Given the description of an element on the screen output the (x, y) to click on. 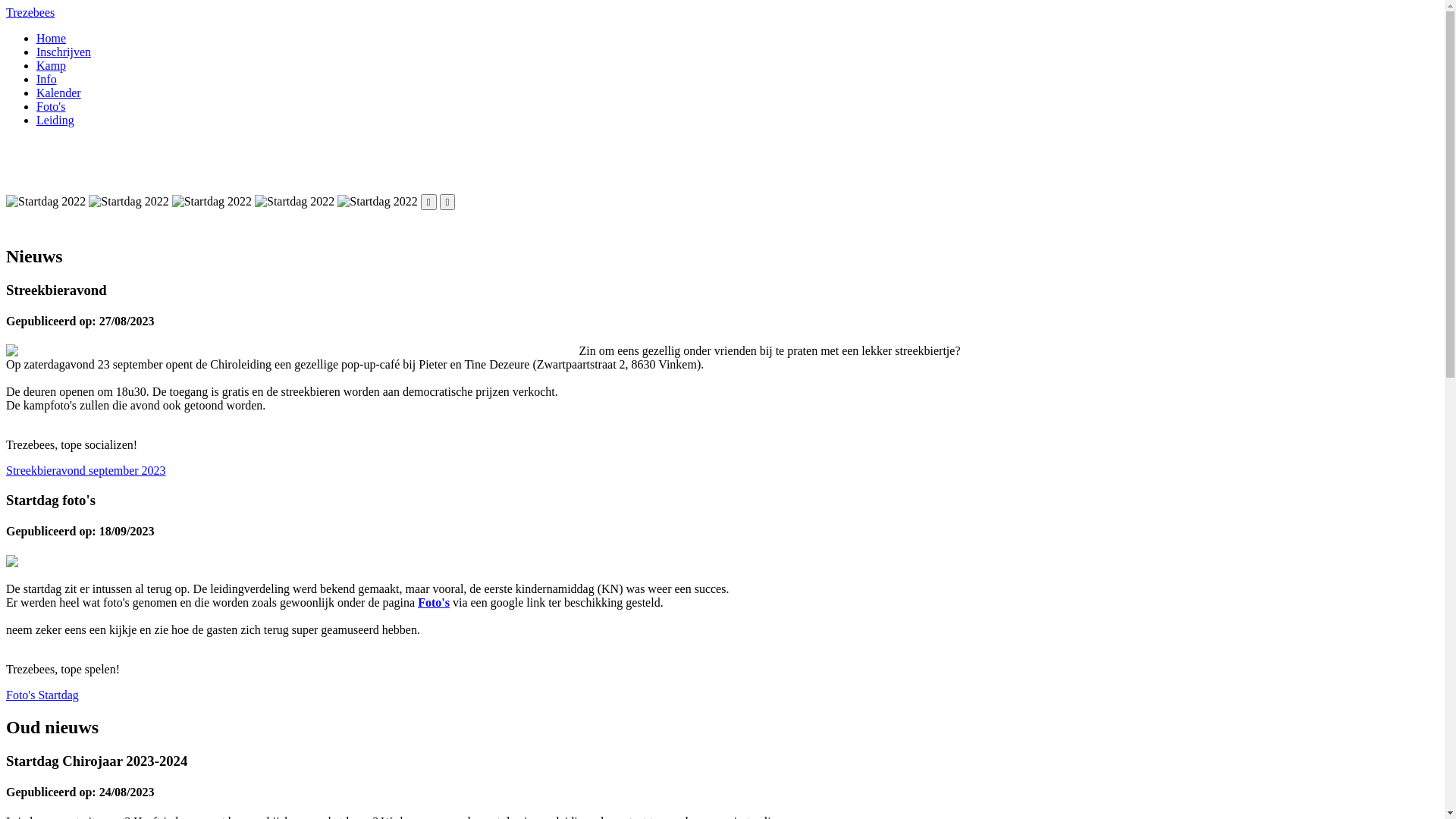
Foto's Element type: text (50, 106)
Foto's Element type: text (433, 602)
Foto's Startdag Element type: text (42, 694)
Trezebees Element type: text (30, 12)
Home Element type: text (50, 37)
Inschrijven Element type: text (63, 51)
Leiding Element type: text (55, 119)
Info Element type: text (46, 78)
Kamp Element type: text (50, 65)
Kalender Element type: text (58, 92)
Streekbieravond september 2023 Element type: text (86, 470)
